Given the description of an element on the screen output the (x, y) to click on. 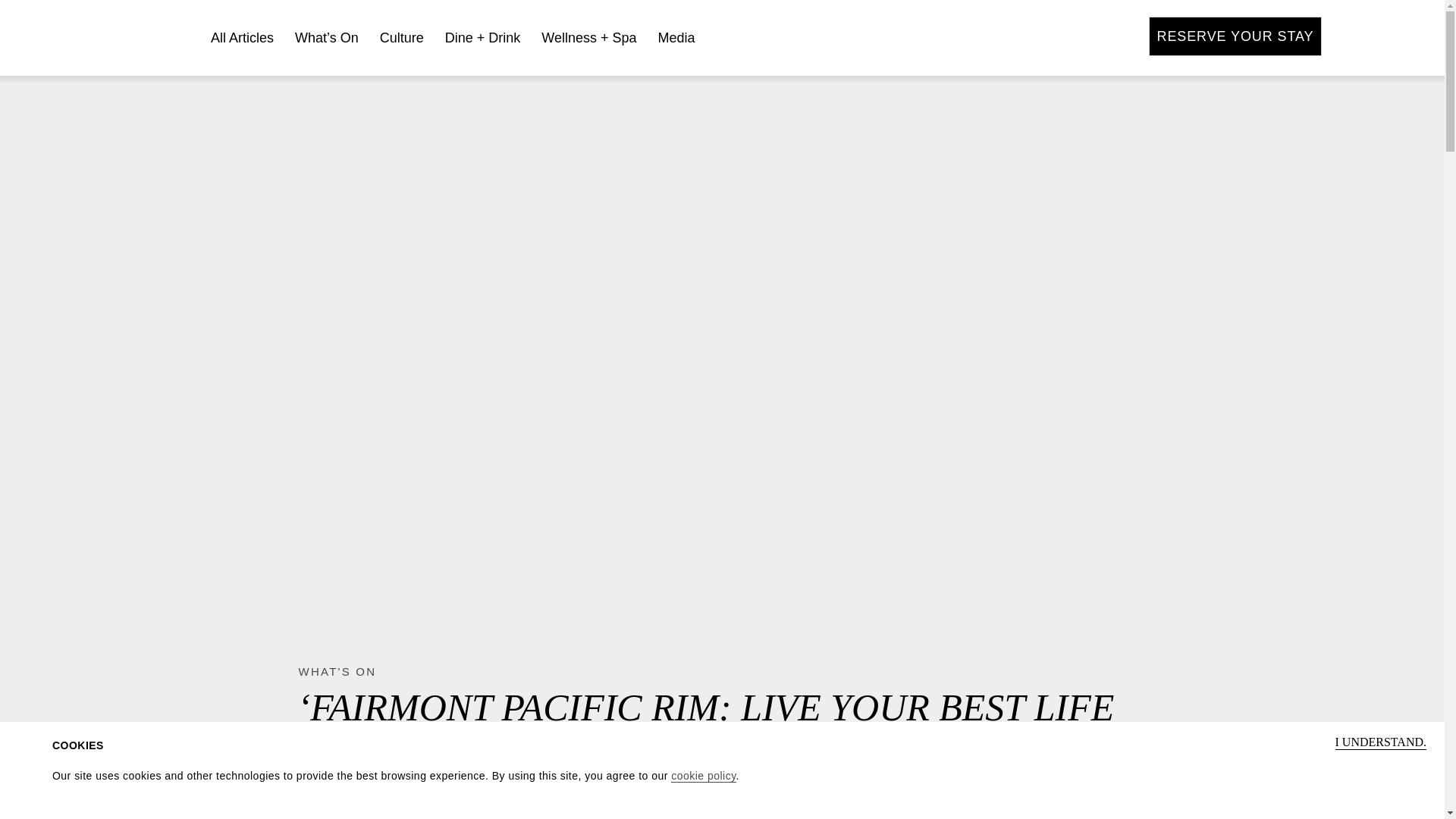
Return to Homepage (126, 38)
Gallery (1025, 36)
Calendar (1065, 36)
Culture (401, 37)
RESERVE YOUR STAY (1235, 36)
Call Us (1104, 36)
Media (676, 37)
All Articles (242, 37)
